Given the description of an element on the screen output the (x, y) to click on. 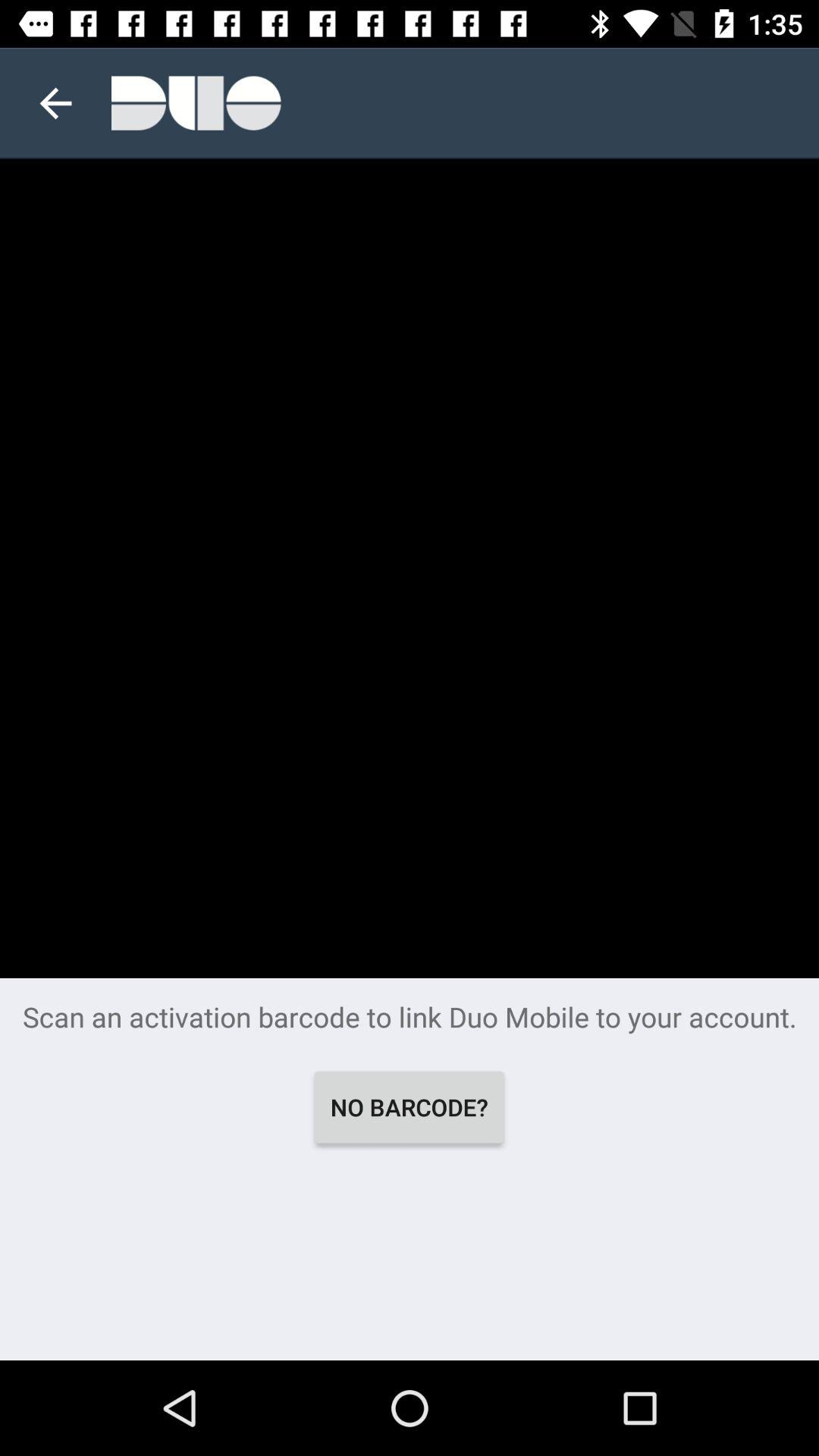
swipe to no barcode? icon (408, 1107)
